Given the description of an element on the screen output the (x, y) to click on. 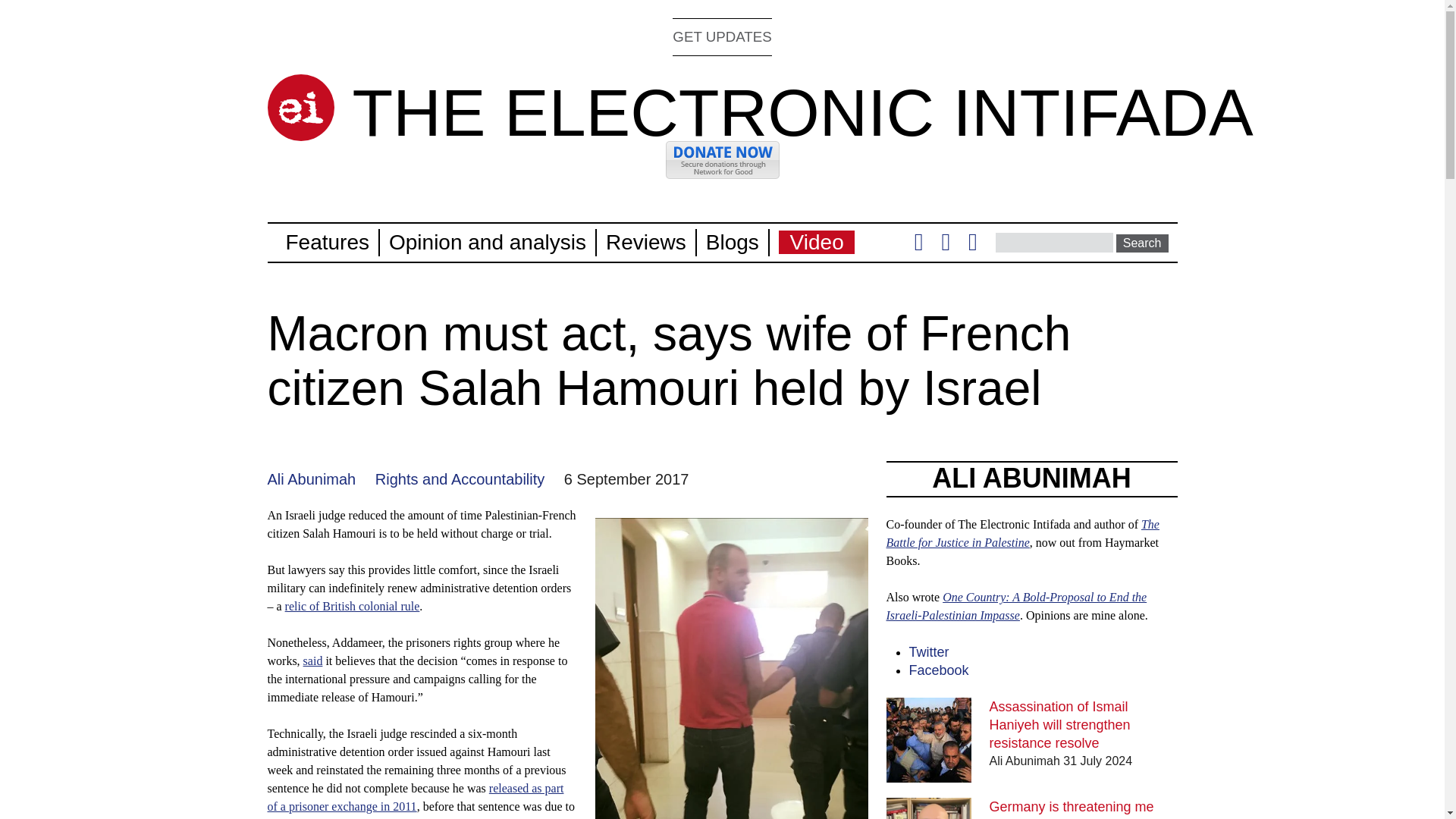
released as part of a prisoner exchange in 2011 (414, 797)
Home (299, 107)
Enter the terms you wish to search for. (1054, 242)
Search (1142, 243)
Rights and Accountability (459, 478)
said (312, 660)
relic of British colonial rule (352, 605)
Home (802, 112)
Ali Abunimah (310, 478)
THE ELECTRONIC INTIFADA (802, 112)
GET UPDATES (721, 37)
